Given the description of an element on the screen output the (x, y) to click on. 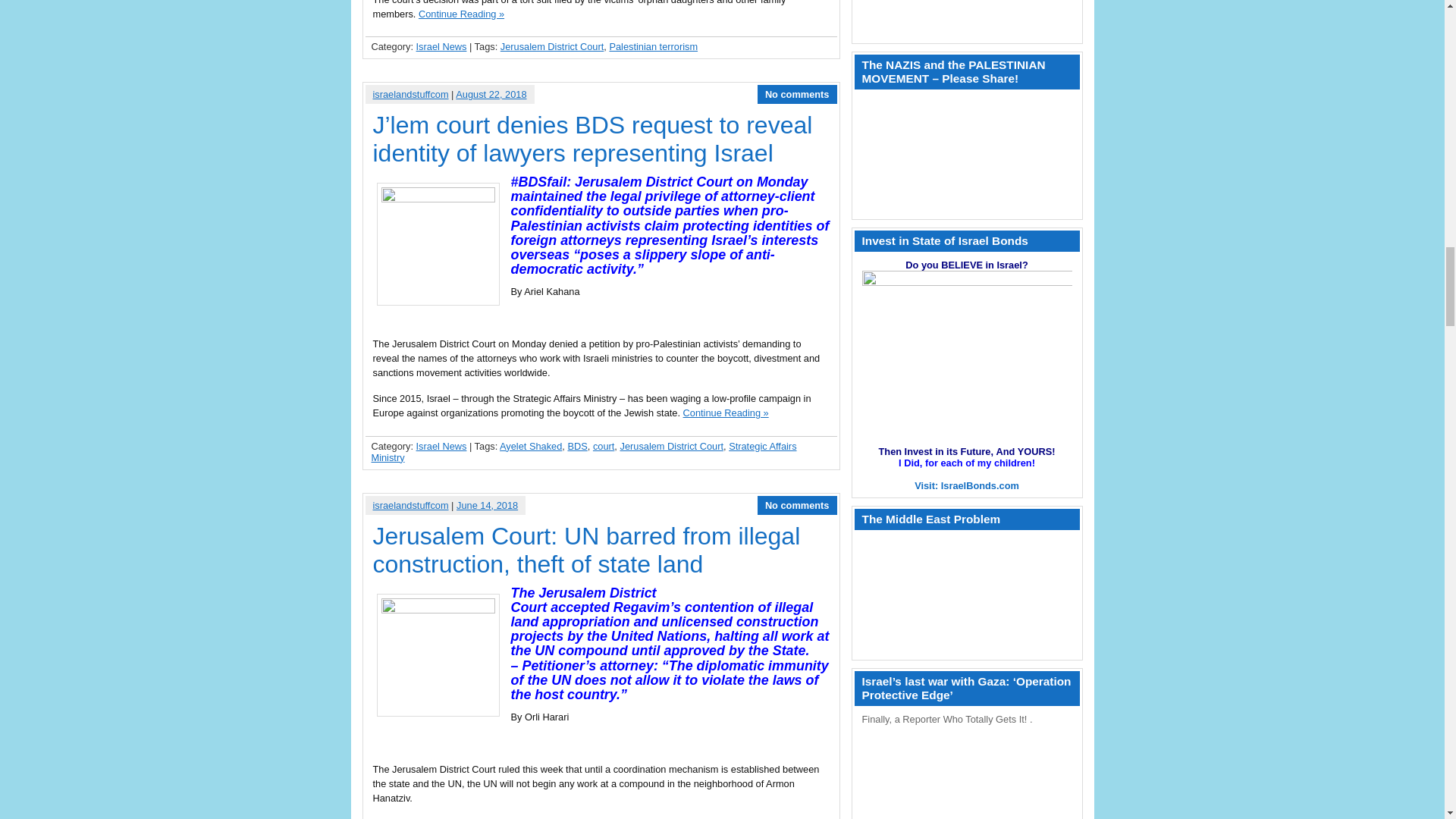
Posts by israelandstuffcom (410, 93)
Posts by israelandstuffcom (410, 505)
